Given the description of an element on the screen output the (x, y) to click on. 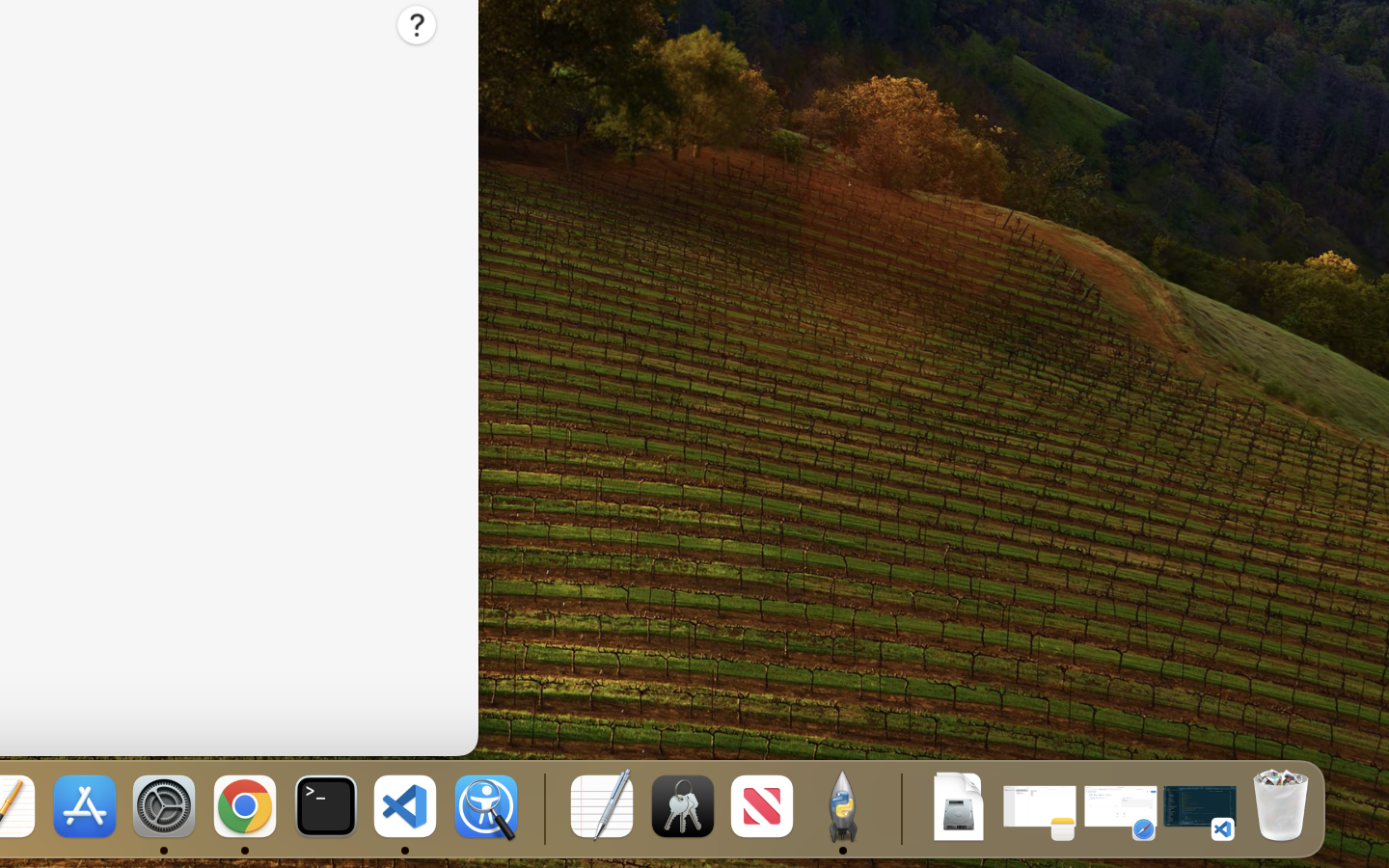
0.4285714328289032 Element type: AXDockItem (541, 807)
